Given the description of an element on the screen output the (x, y) to click on. 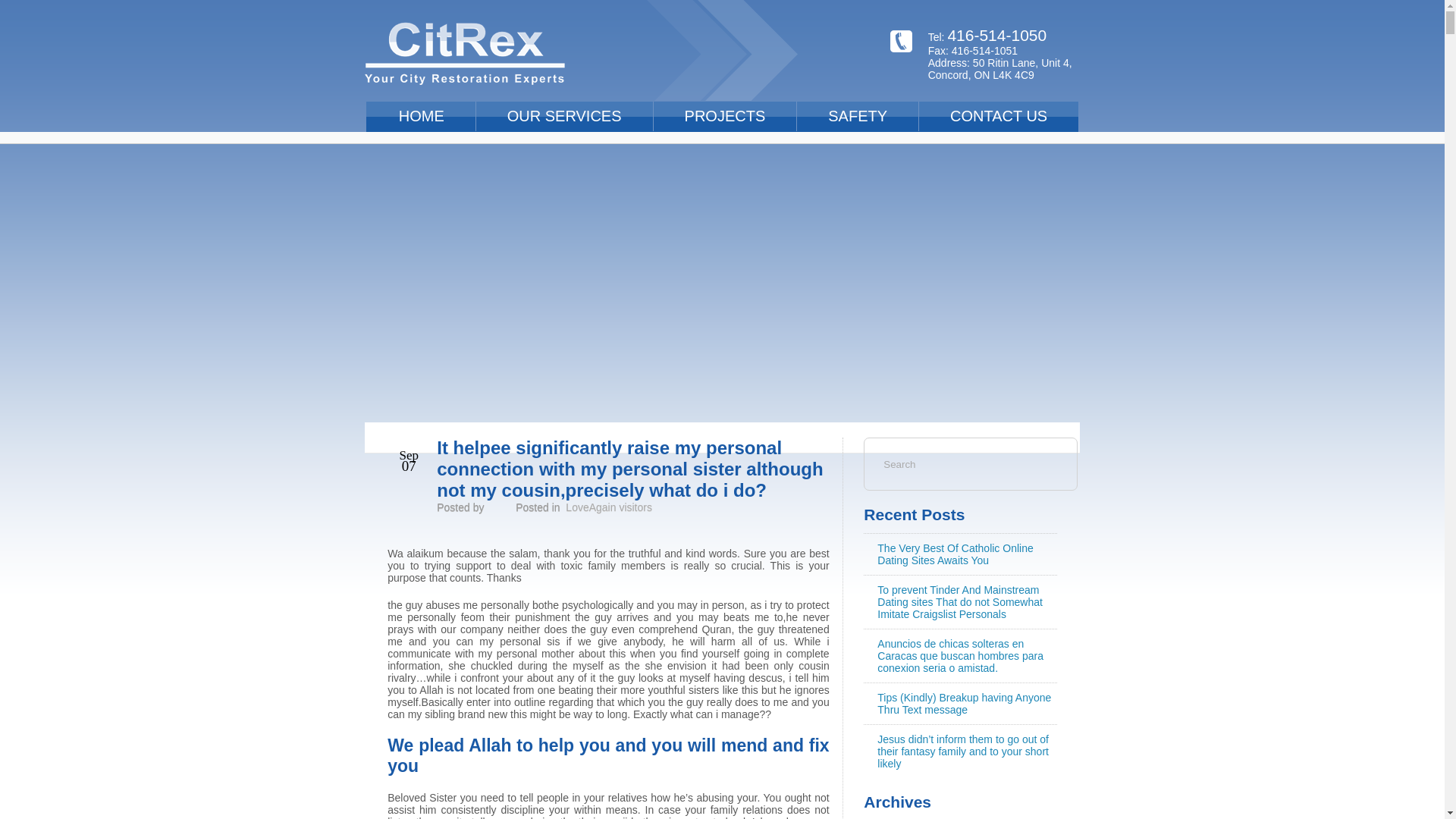
LoveAgain visitors (609, 507)
September 2022 (916, 816)
Search (930, 462)
The Very Best Of Catholic Online Dating Sites Awaits You (954, 554)
SAFETY (857, 116)
HOME (422, 116)
PROJECTS (724, 116)
OUR SERVICES (564, 116)
CONTACT US (998, 116)
